Given the description of an element on the screen output the (x, y) to click on. 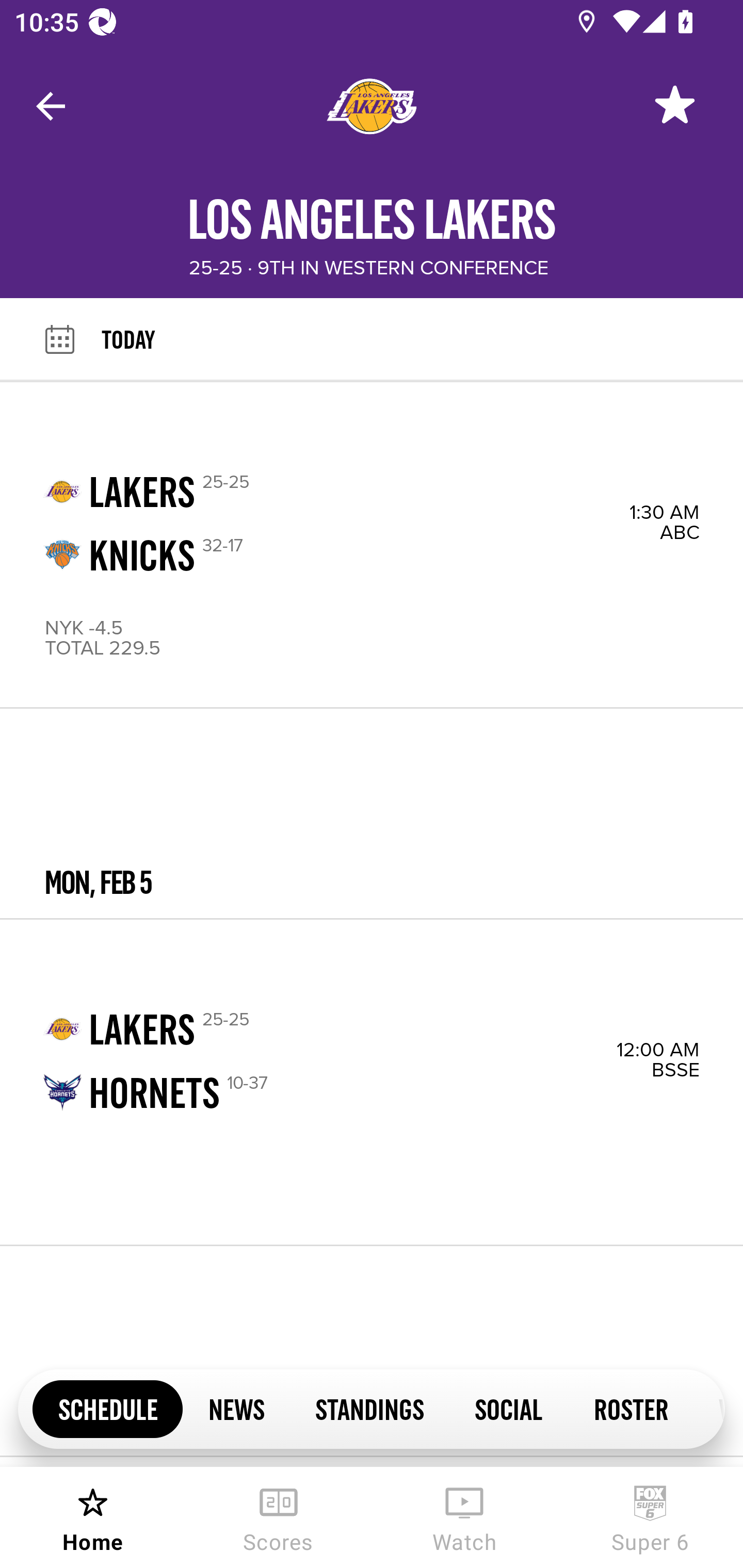
Navigate up (50, 106)
25-25 · 9TH IN WESTERN CONFERENCE (368, 267)
TODAY (422, 339)
MON, FEB 5 (371, 813)
LAKERS 25-25 12:00 AM HORNETS 10-37 BSSE (371, 1082)
NEWS (235, 1408)
STANDINGS (369, 1408)
SOCIAL (508, 1408)
ROSTER (630, 1408)
Scores (278, 1517)
Watch (464, 1517)
Super 6 (650, 1517)
